Given the description of an element on the screen output the (x, y) to click on. 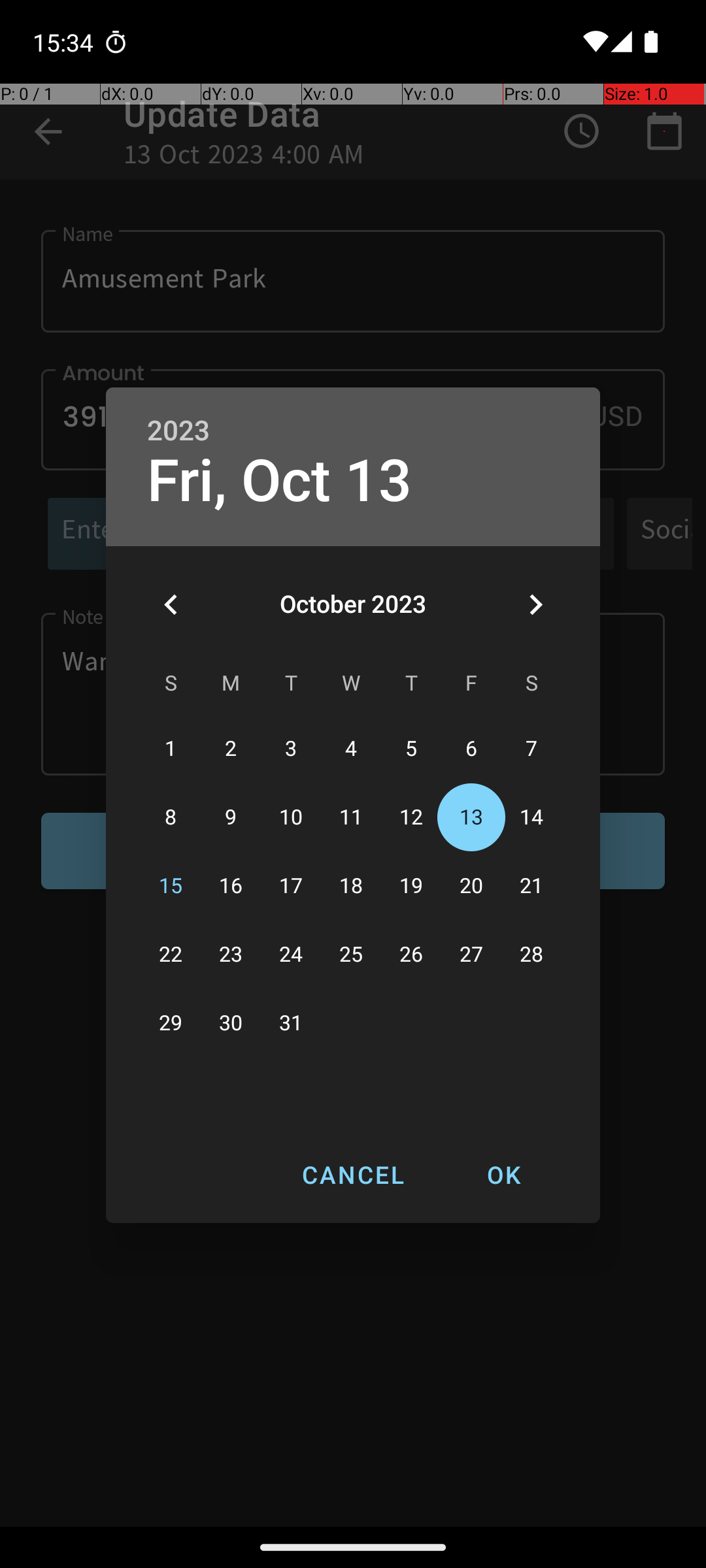
Fri, Oct 13 Element type: android.widget.TextView (279, 480)
